Given the description of an element on the screen output the (x, y) to click on. 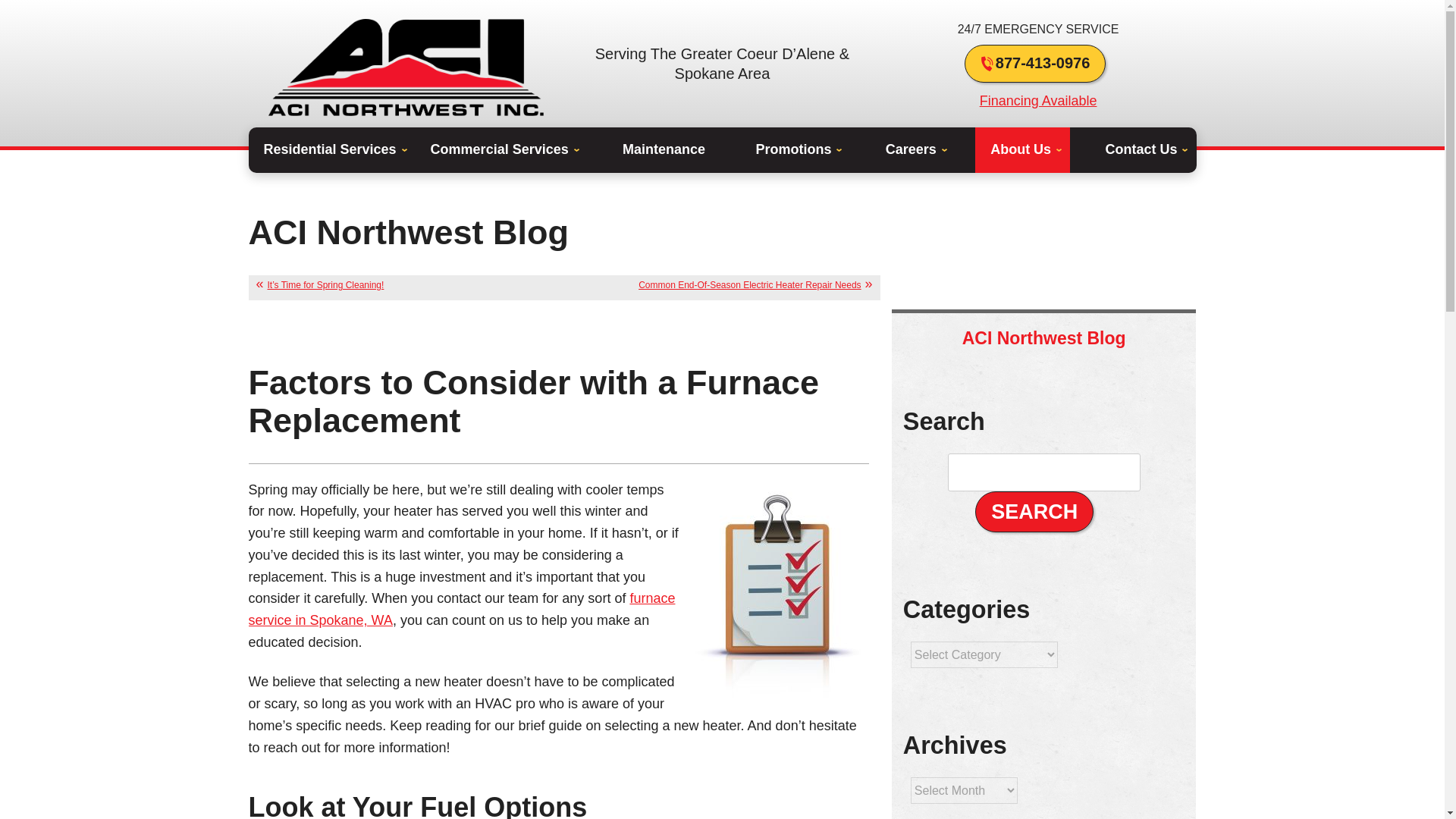
Financing Available (1038, 100)
877-413-0976 (1034, 63)
Residential Services (331, 149)
